Given the description of an element on the screen output the (x, y) to click on. 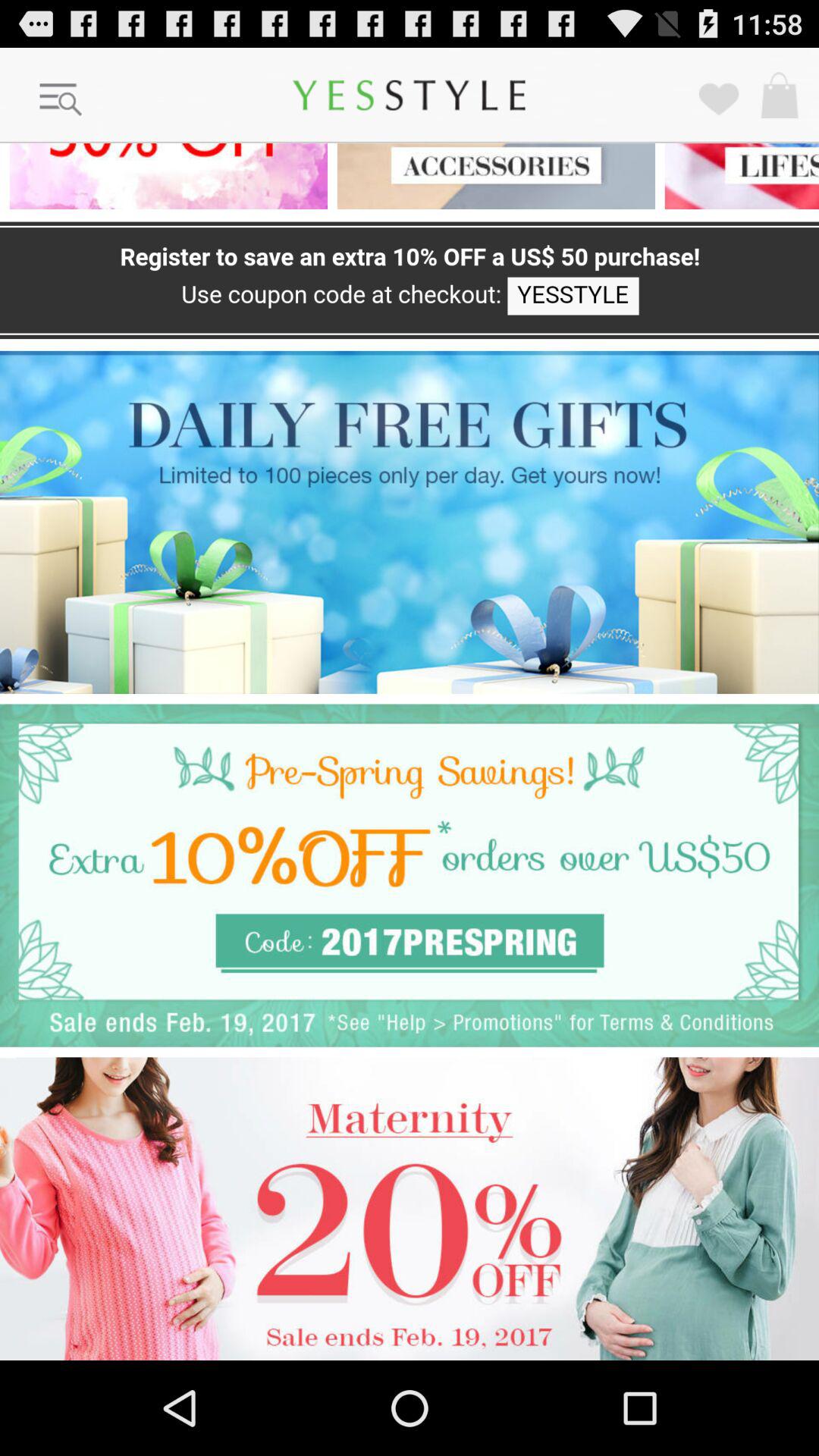
advertisement page (163, 176)
